Given the description of an element on the screen output the (x, y) to click on. 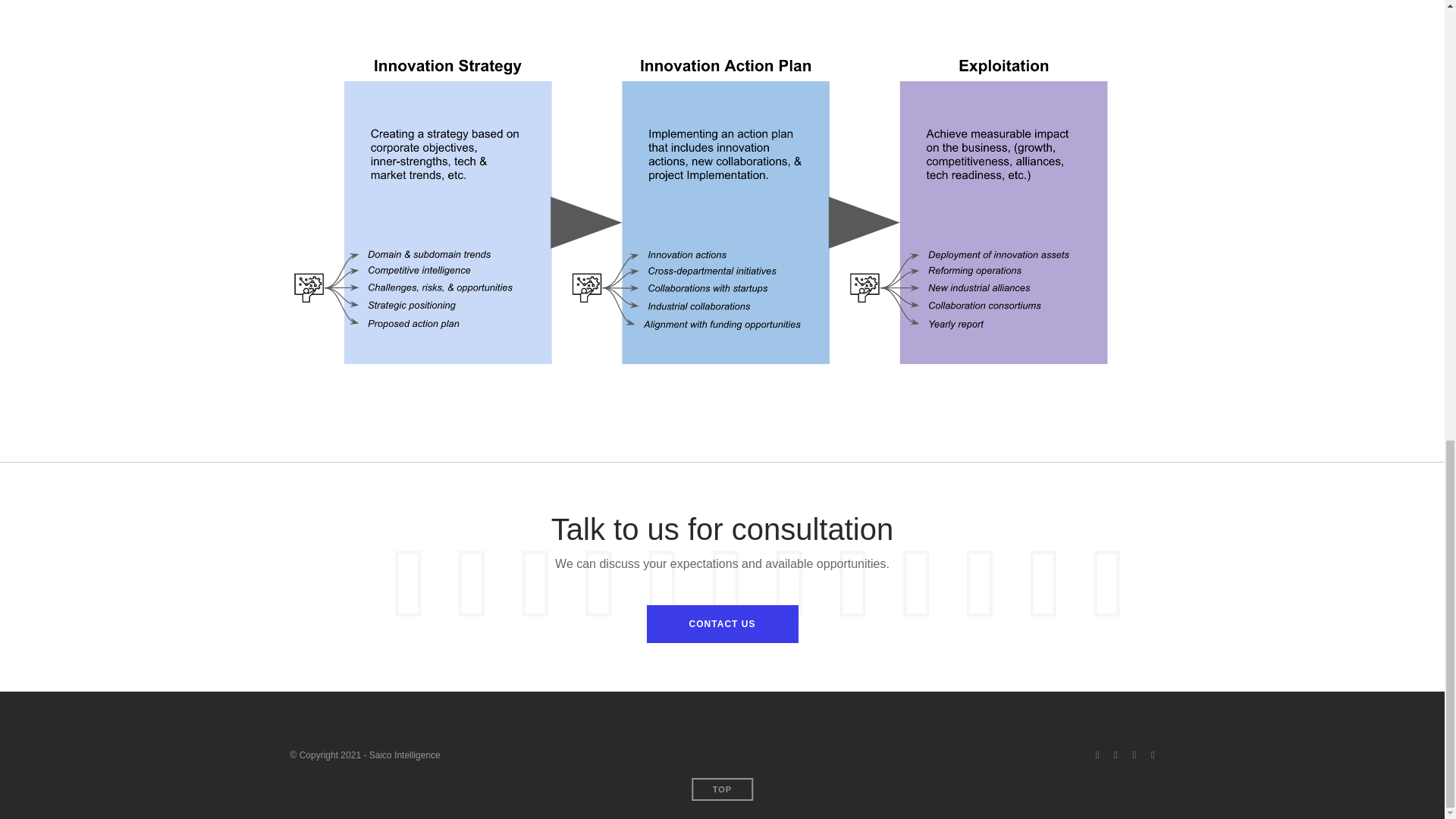
CONTACT US (721, 623)
TOP (721, 789)
